Given the description of an element on the screen output the (x, y) to click on. 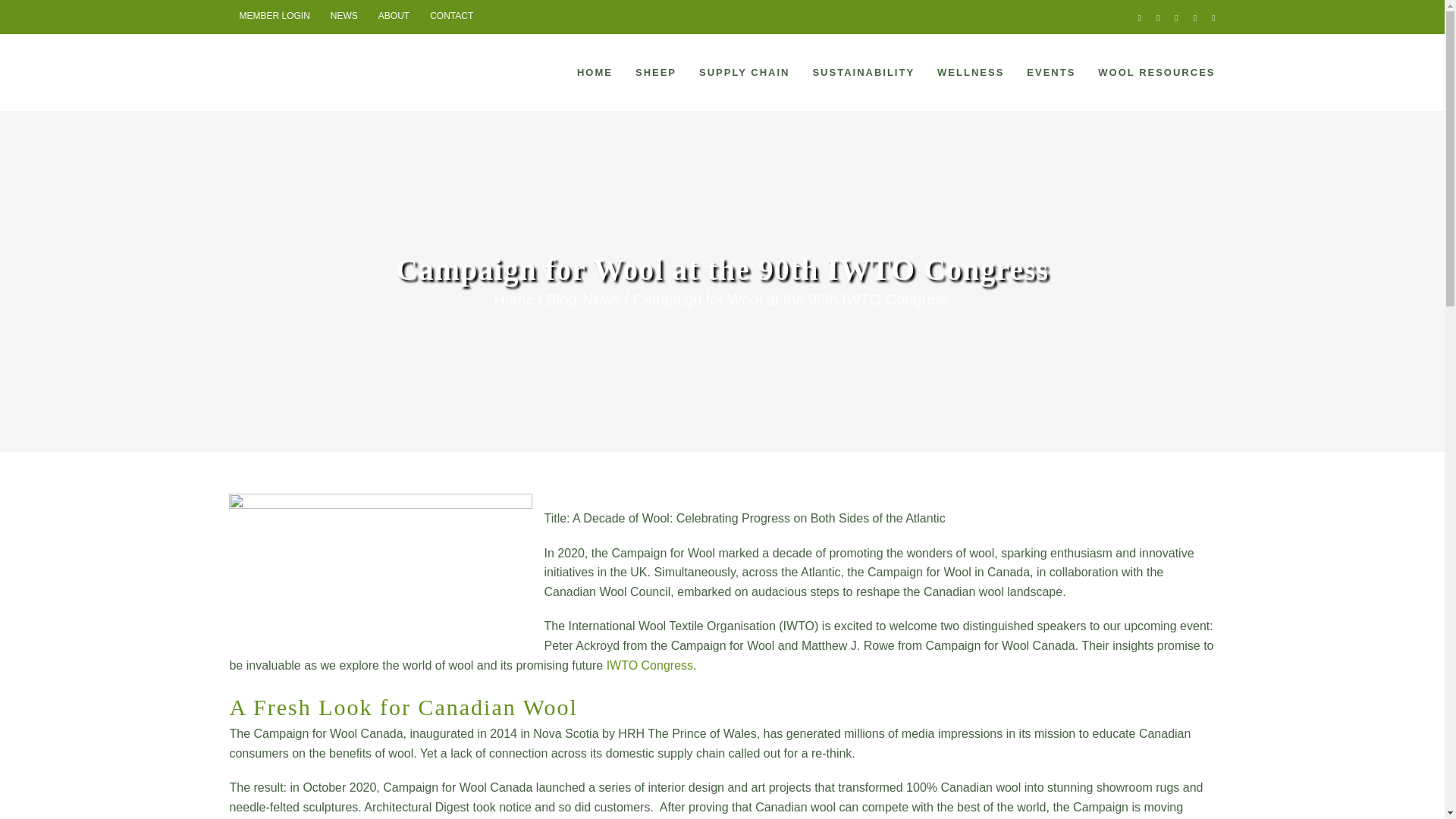
Home (513, 299)
News (601, 299)
SUSTAINABILITY (863, 71)
MEMBER LOGIN (273, 16)
WOOL RESOURCES (1155, 71)
IWTO Congress (650, 665)
NEWS (344, 16)
ABOUT (393, 16)
CONTACT (451, 16)
SUPPLY CHAIN (743, 71)
